Given the description of an element on the screen output the (x, y) to click on. 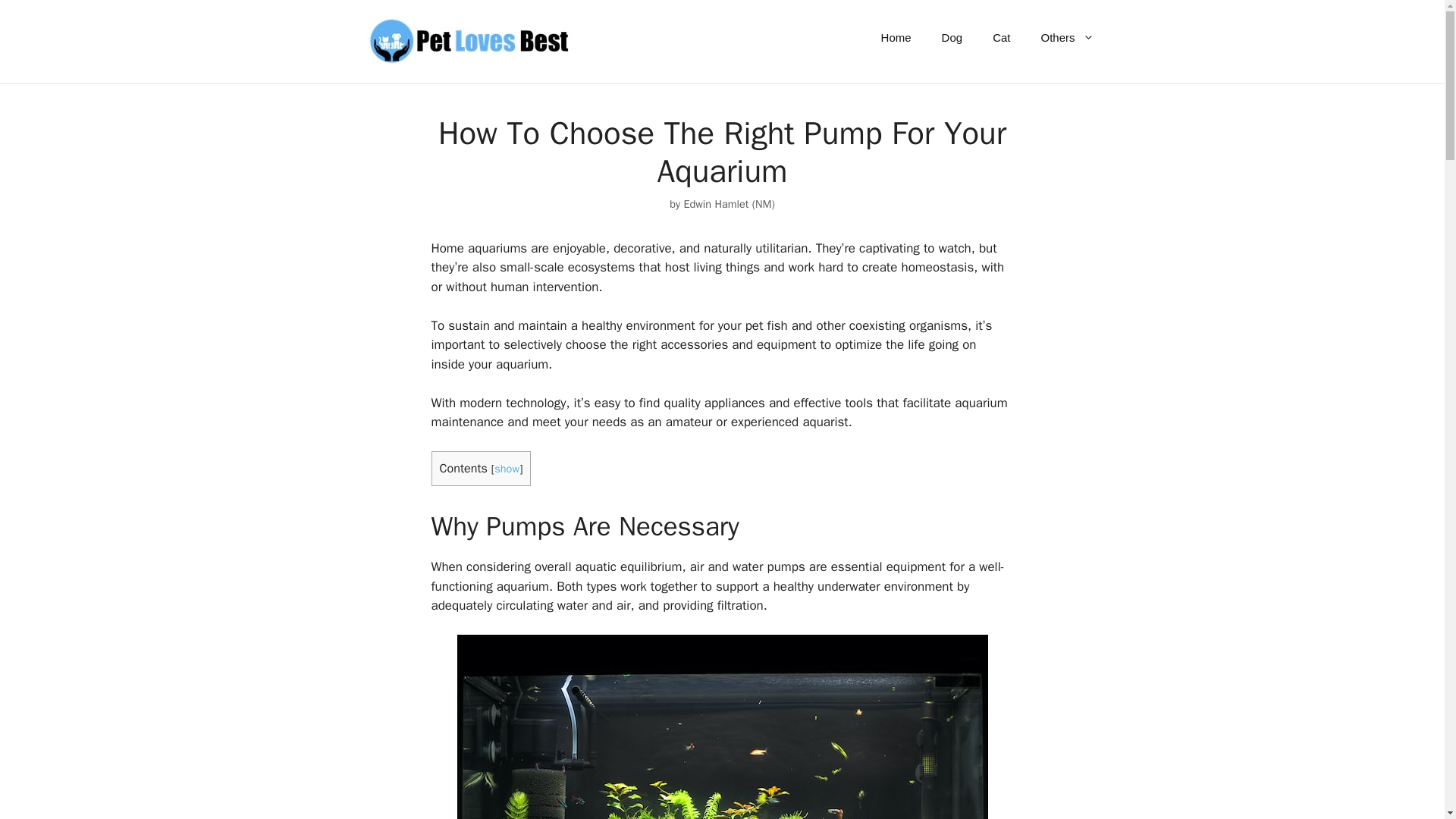
Dog (952, 37)
Pet Loves Best (466, 40)
show (507, 468)
Pet Loves Best (466, 41)
Home (896, 37)
Others (1066, 37)
Cat (1000, 37)
